Given the description of an element on the screen output the (x, y) to click on. 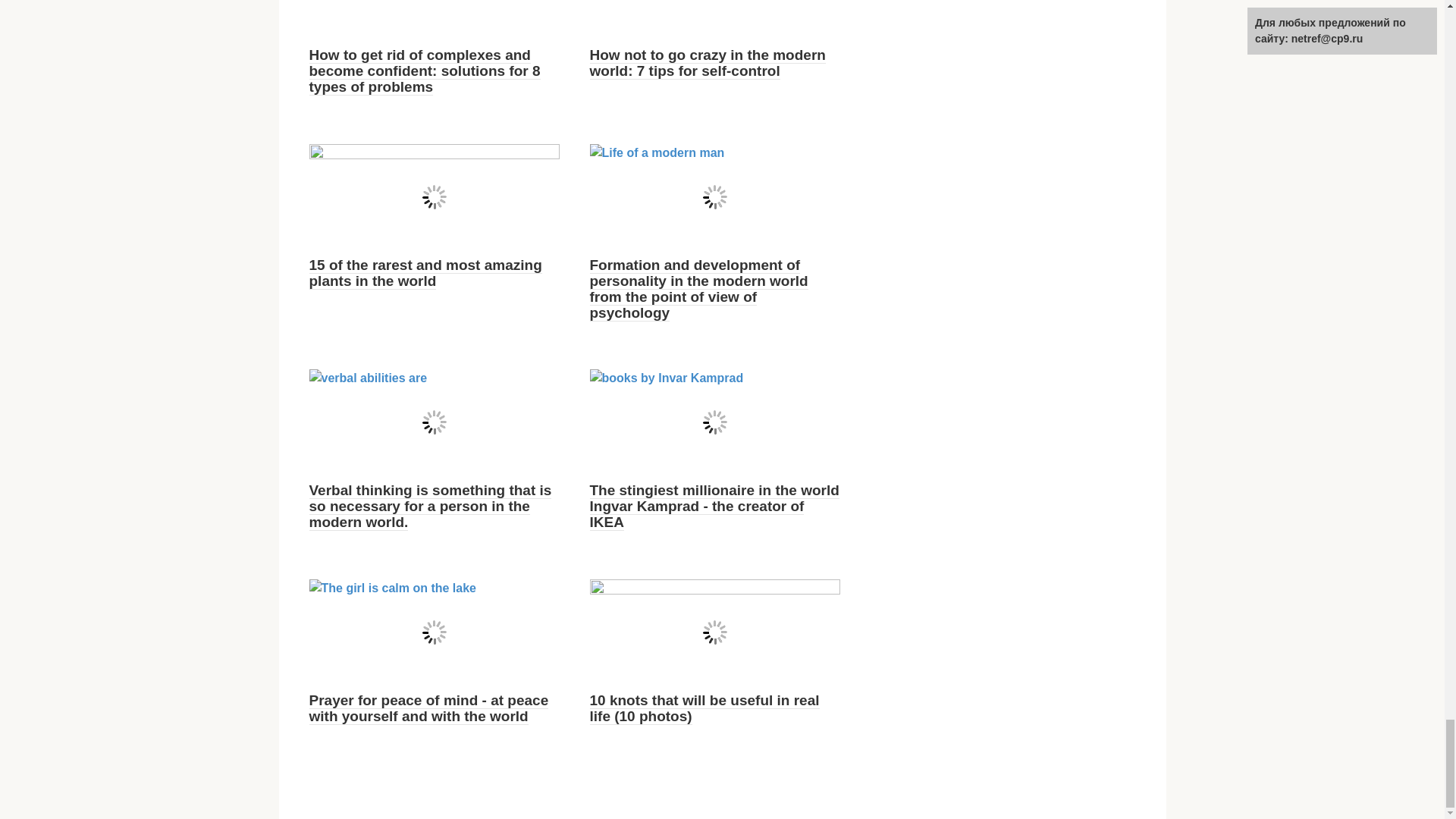
15 of the rarest and most amazing plants in the world (424, 273)
